Given the description of an element on the screen output the (x, y) to click on. 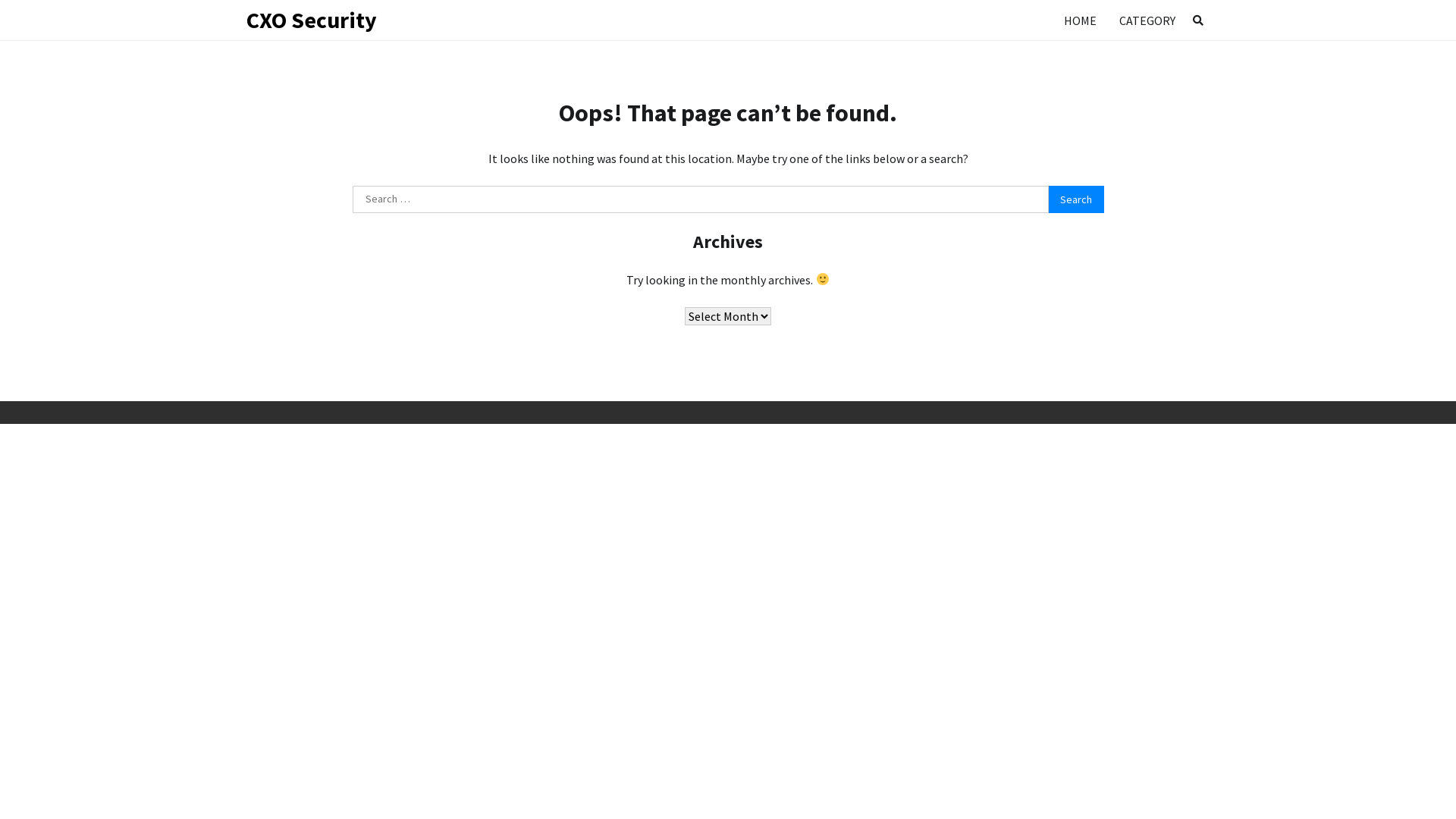
Search Element type: hover (1197, 20)
Search Element type: text (1075, 199)
CXO Security Element type: text (311, 19)
HOME Element type: text (1079, 20)
CATEGORY Element type: text (1146, 20)
Search Element type: text (1170, 55)
